Given the description of an element on the screen output the (x, y) to click on. 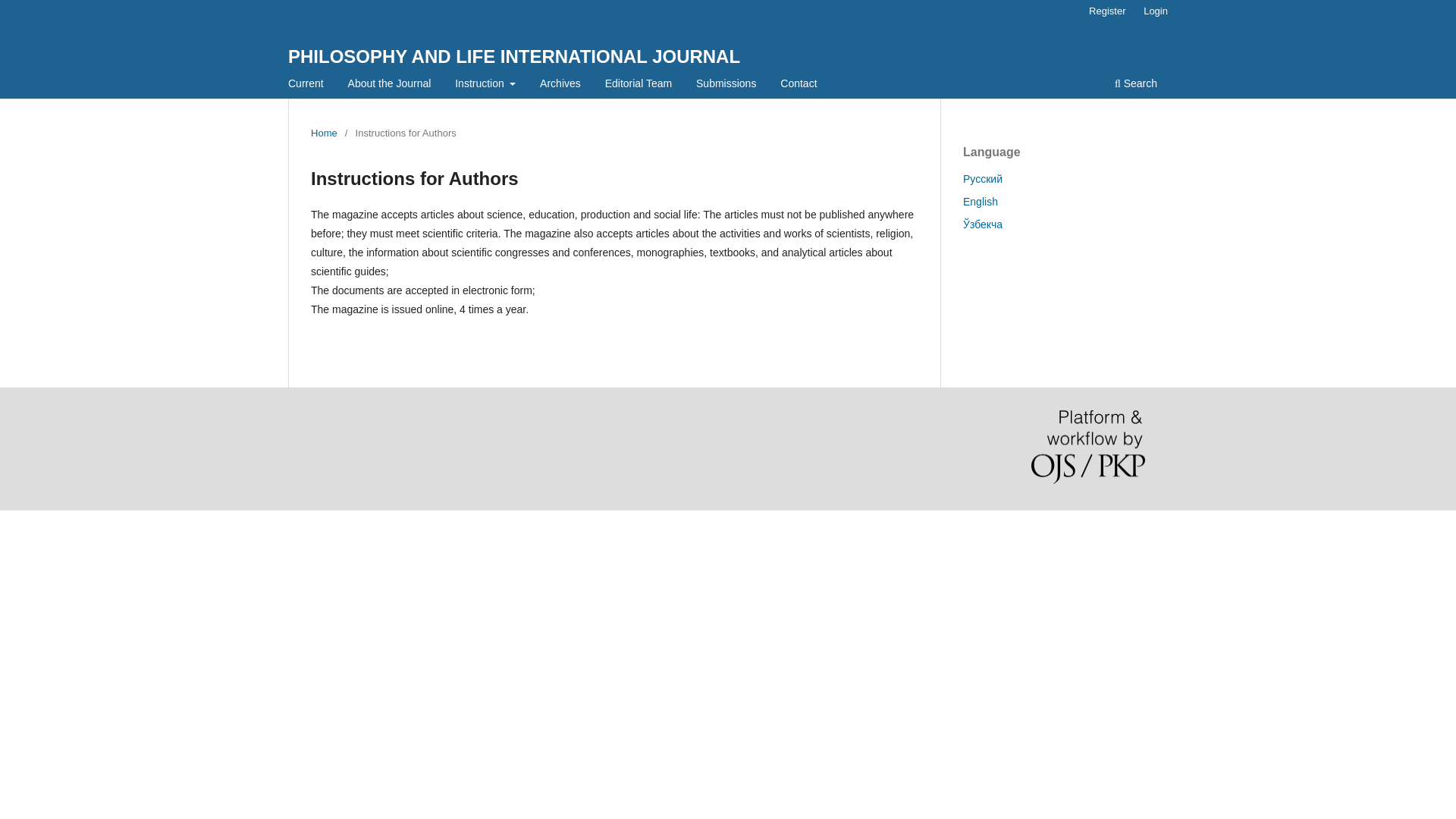
About the Journal (389, 85)
Register (1106, 11)
Home (324, 133)
PHILOSOPHY AND LIFE INTERNATIONAL JOURNAL (513, 56)
Search (1135, 85)
Submissions (725, 85)
Contact (798, 85)
Archives (560, 85)
Current (305, 85)
Login (1154, 11)
Instruction (485, 85)
Editorial Team (638, 85)
English (979, 201)
